Given the description of an element on the screen output the (x, y) to click on. 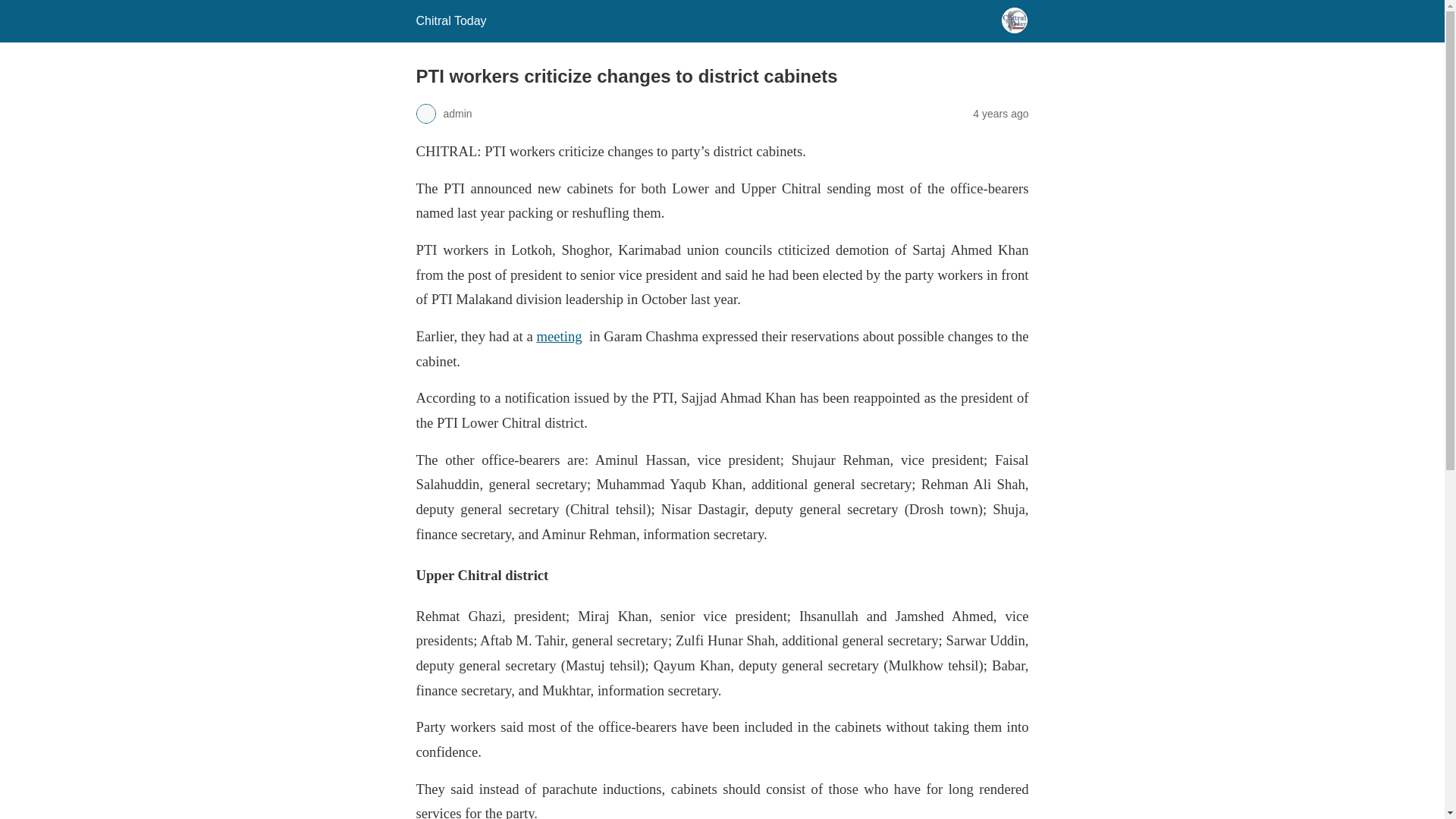
Chitral Today (450, 20)
meeting (557, 335)
